Given the description of an element on the screen output the (x, y) to click on. 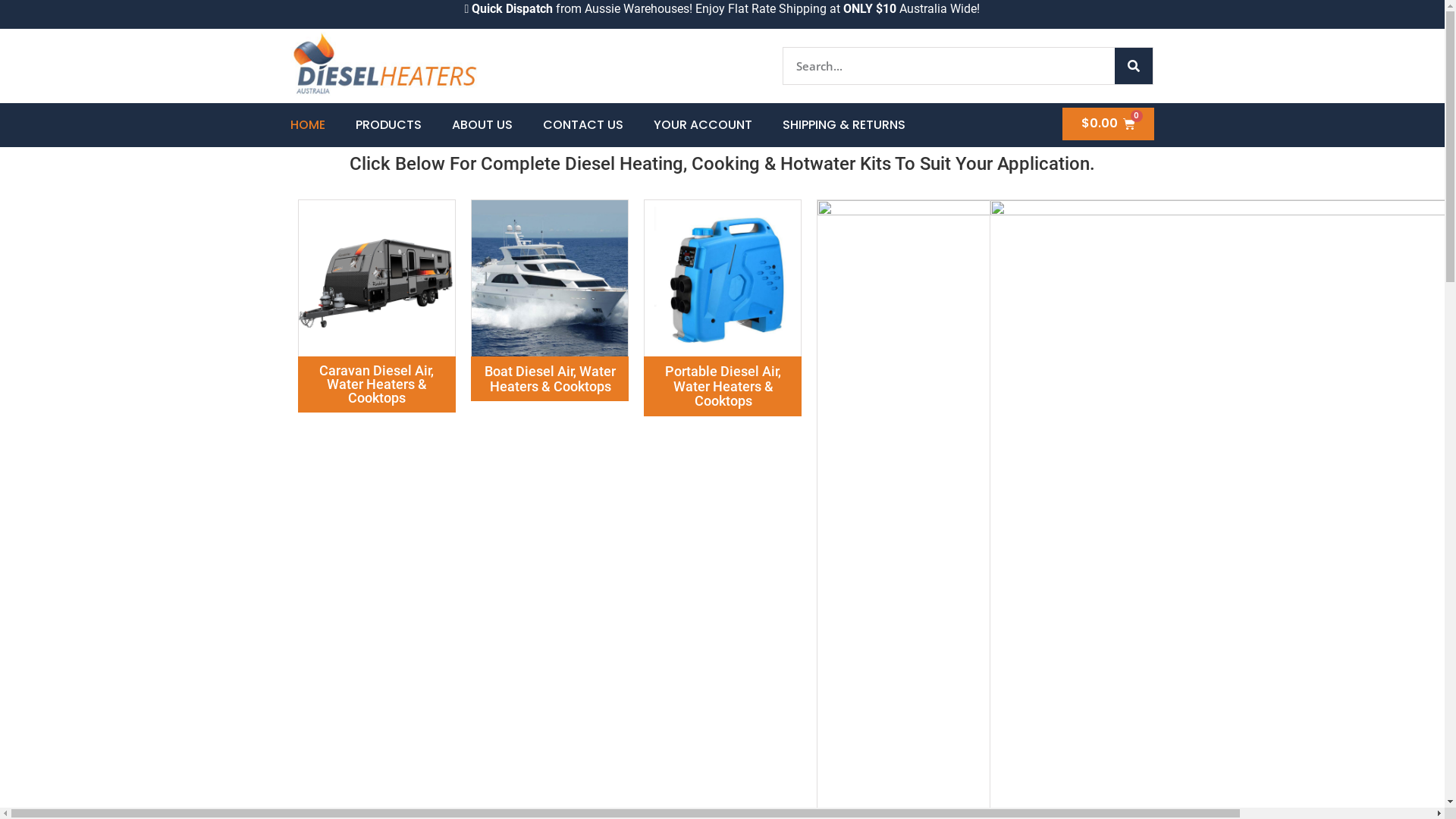
CONTACT US Element type: text (582, 124)
ABOUT US Element type: text (481, 124)
HOME Element type: text (306, 124)
PRODUCTS Element type: text (387, 124)
Portable Diesel Air, Water Heaters & Cooktops Element type: text (723, 386)
SHIPPING & RETURNS Element type: text (843, 124)
$0.00
0 Element type: text (1108, 123)
Boat Diesel Air, Water Heaters & Cooktops Element type: text (549, 378)
Caravan Diesel Air, Water Heaters & Cooktops Element type: text (376, 383)
YOUR ACCOUNT Element type: text (702, 124)
